Given the description of an element on the screen output the (x, y) to click on. 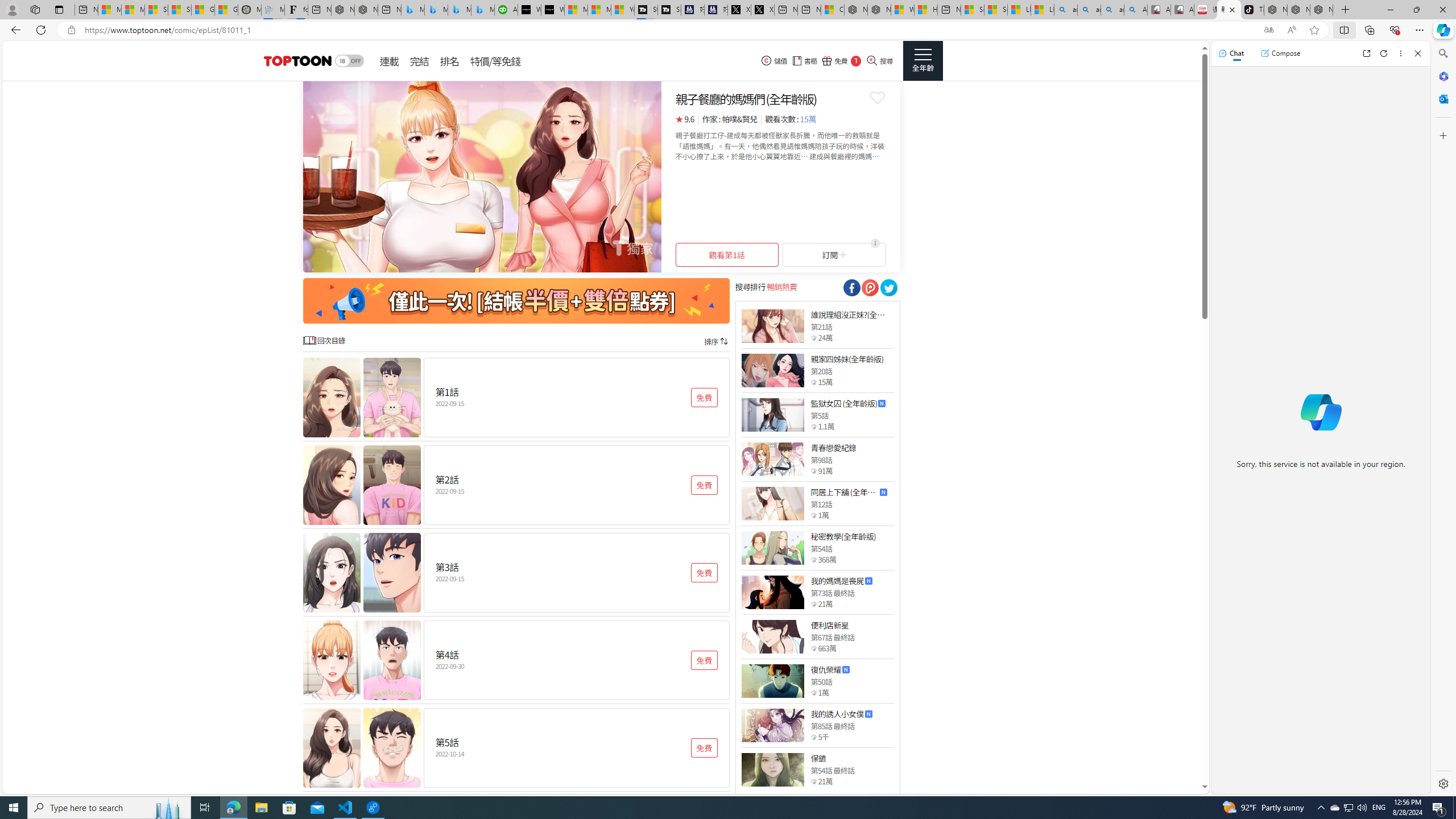
Open link in new tab (1366, 53)
Microsoft Bing Travel - Stays in Bangkok, Bangkok, Thailand (435, 9)
All Cubot phones (1182, 9)
Chat (1231, 52)
